Given the description of an element on the screen output the (x, y) to click on. 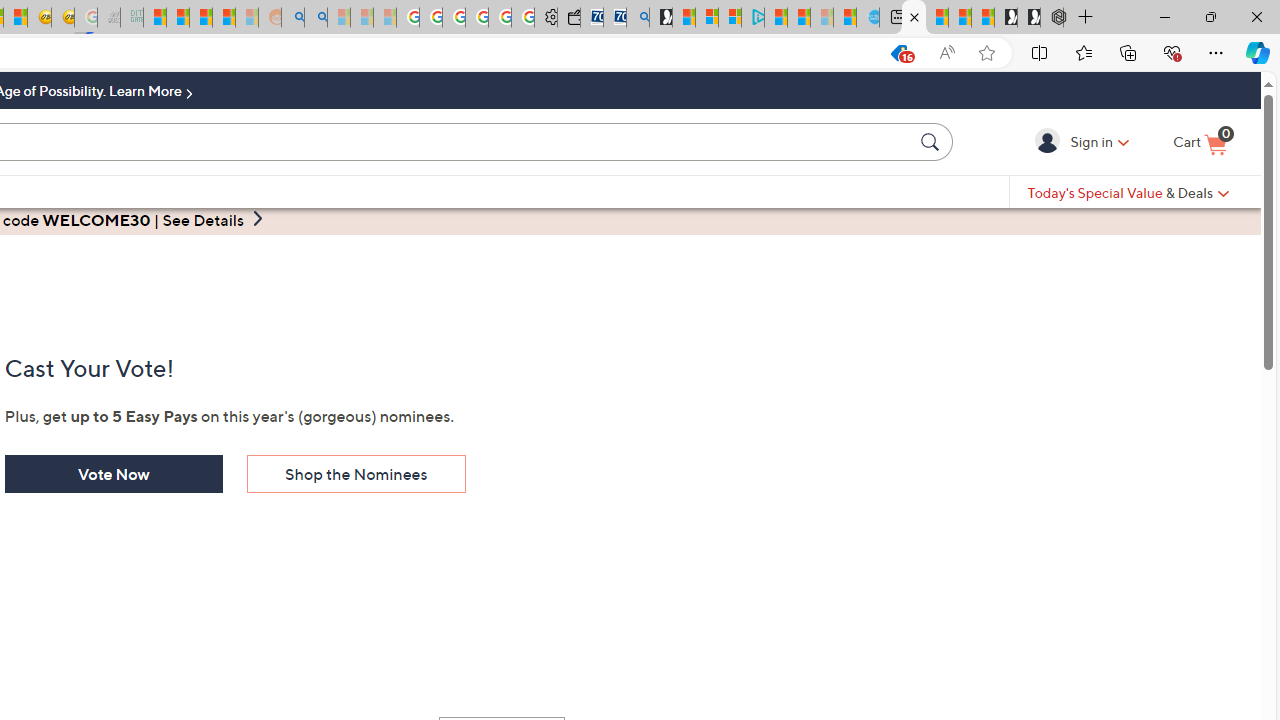
Nordace - Nordace Siena Is Not An Ordinary Backpack (1051, 17)
DITOGAMES AG Imprint - Sleeping (132, 17)
Student Loan Update: Forgiveness Program Ends This Month (223, 17)
Navy Quest (109, 17)
